Given the description of an element on the screen output the (x, y) to click on. 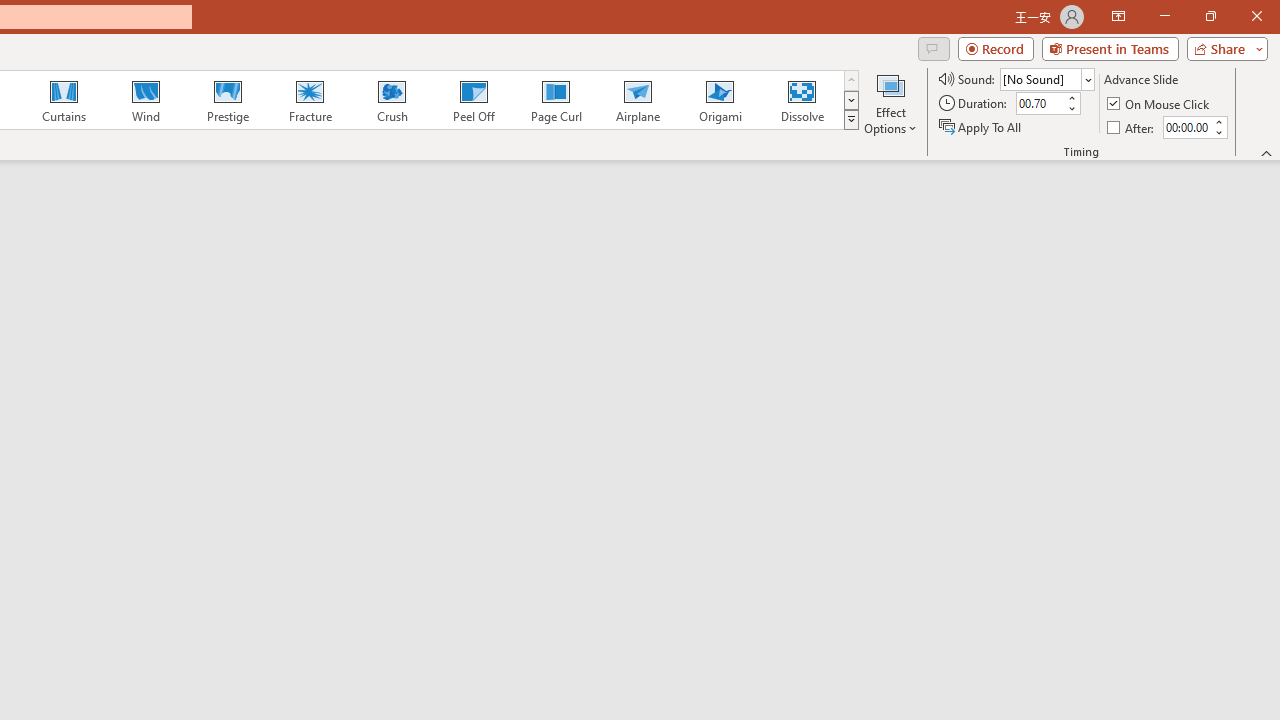
Wind (145, 100)
Airplane (637, 100)
On Mouse Click (1159, 103)
Transition Effects (850, 120)
After (1186, 127)
Sound (1046, 78)
Duration (1039, 103)
